Given the description of an element on the screen output the (x, y) to click on. 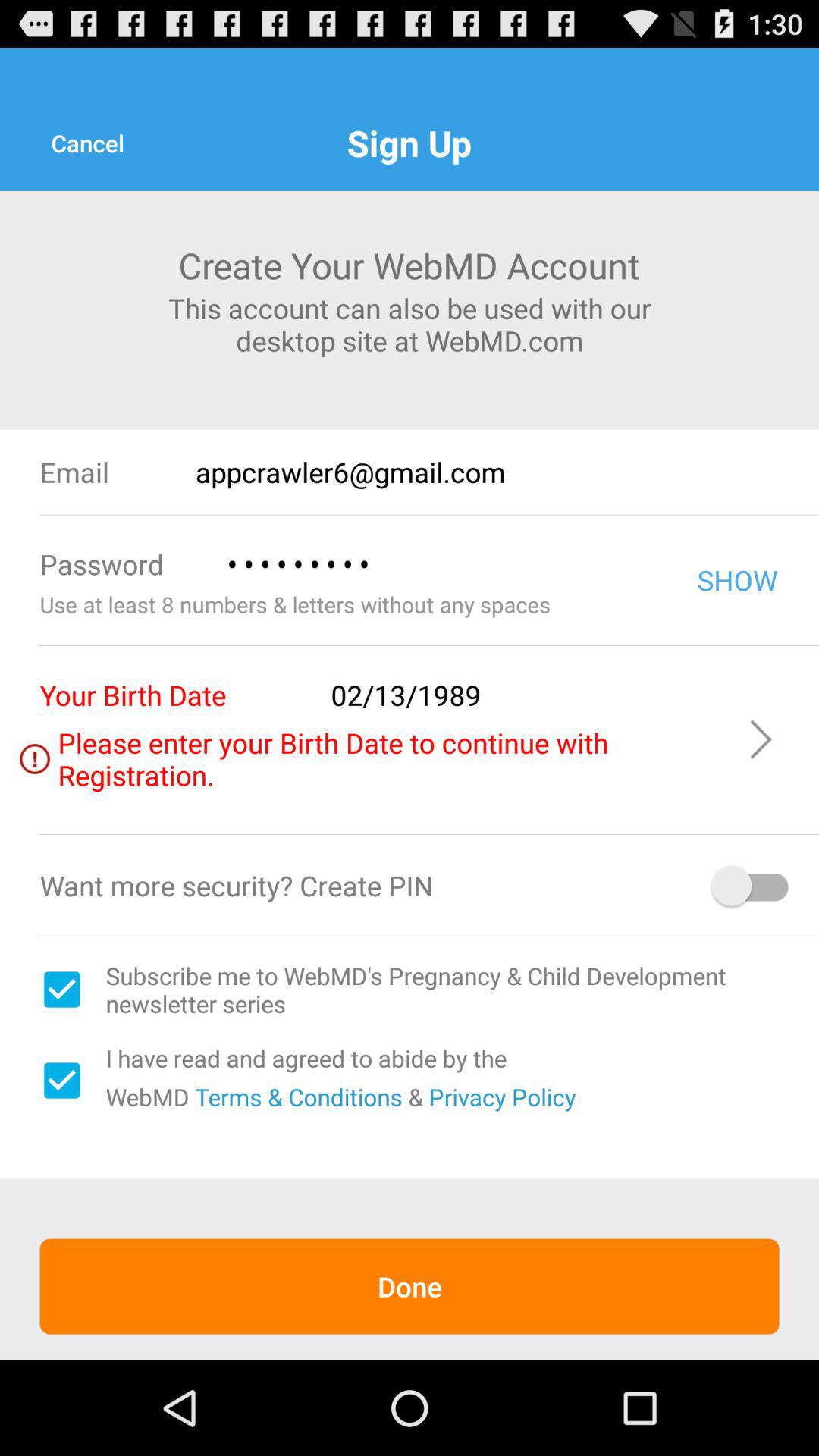
choose icon to the right of the email (507, 471)
